Given the description of an element on the screen output the (x, y) to click on. 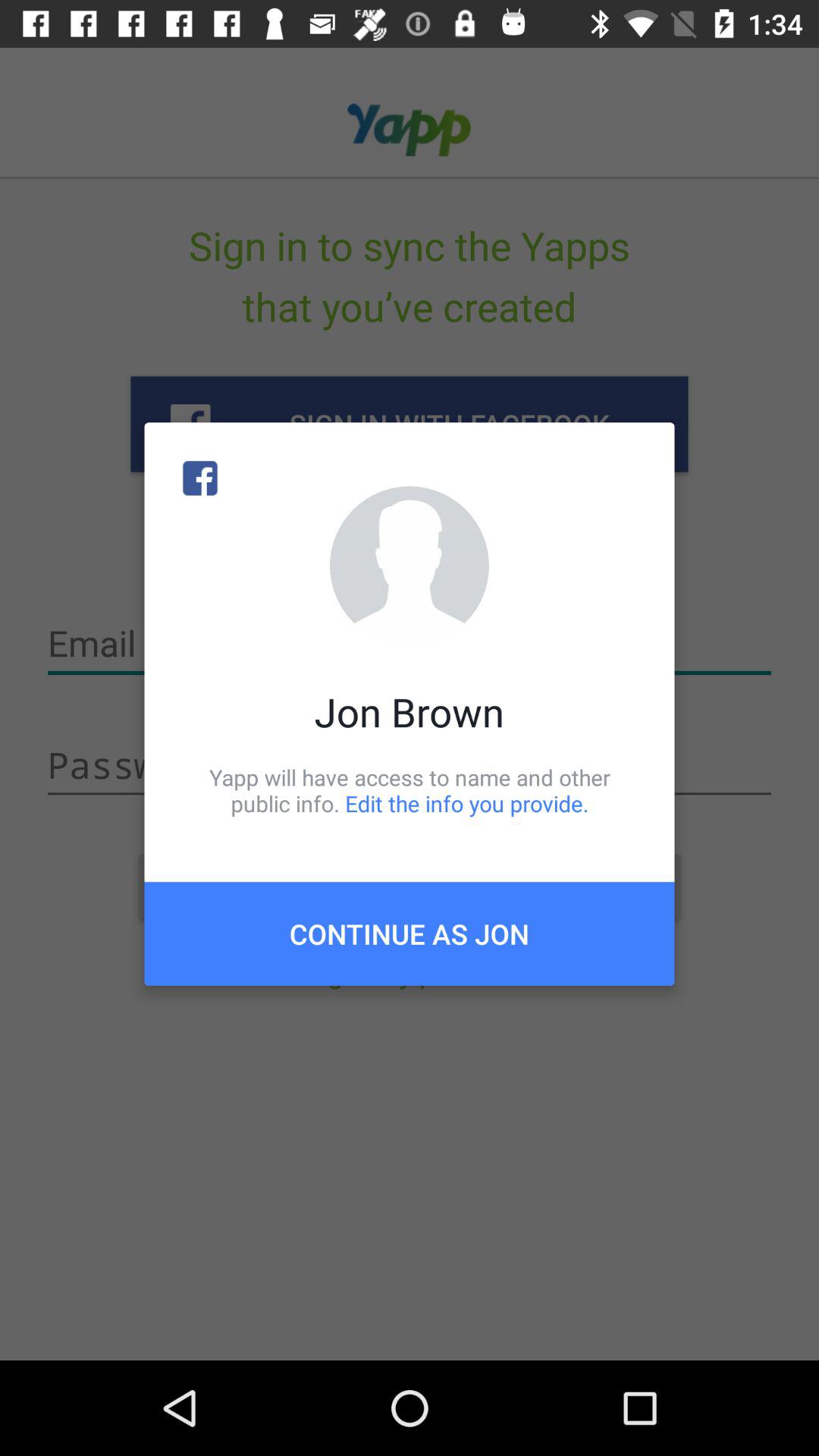
select continue as jon (409, 933)
